Given the description of an element on the screen output the (x, y) to click on. 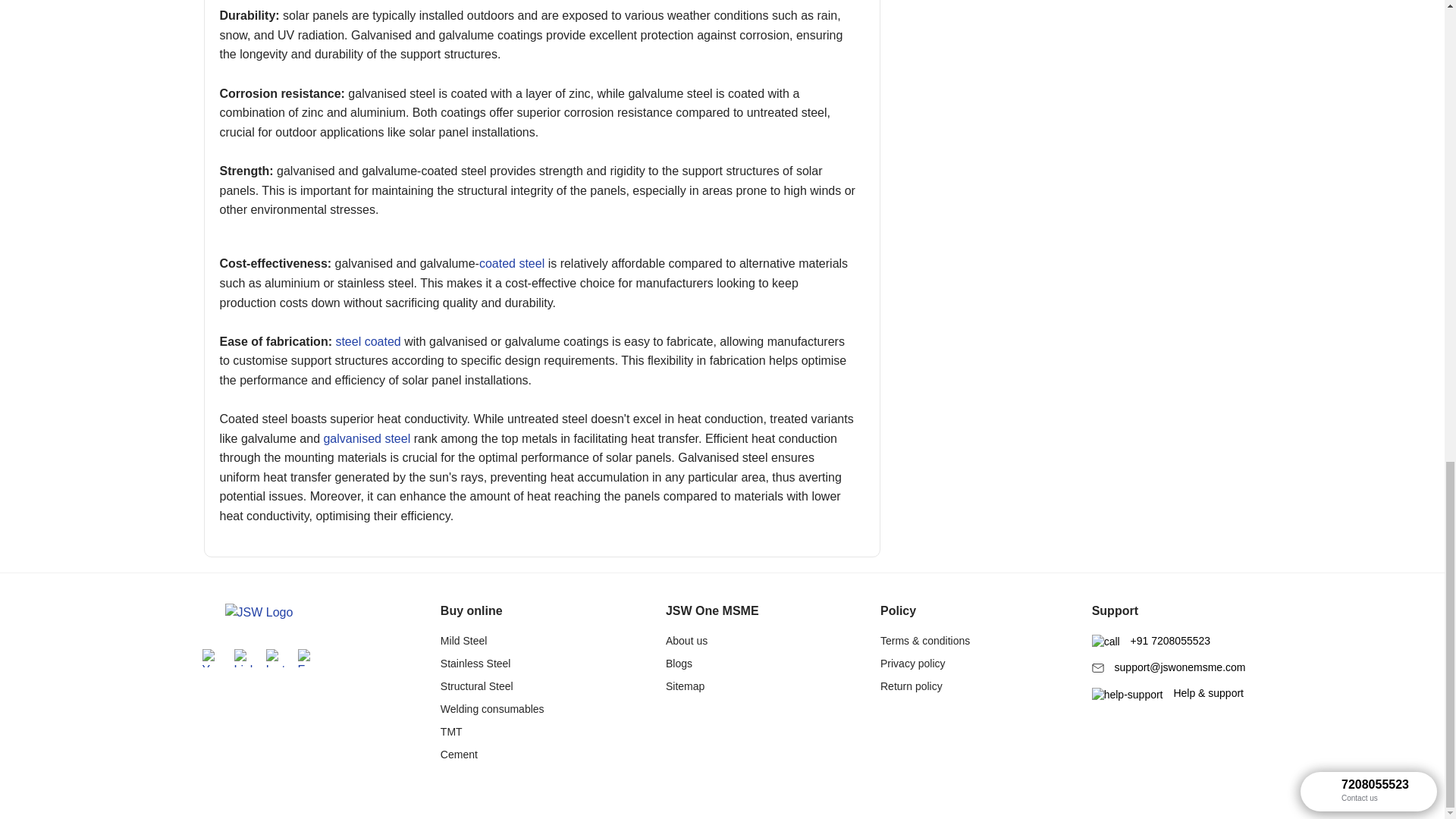
Instagram (274, 658)
LinkedIn (242, 658)
Facebook (306, 658)
Youtube (210, 658)
